Given the description of an element on the screen output the (x, y) to click on. 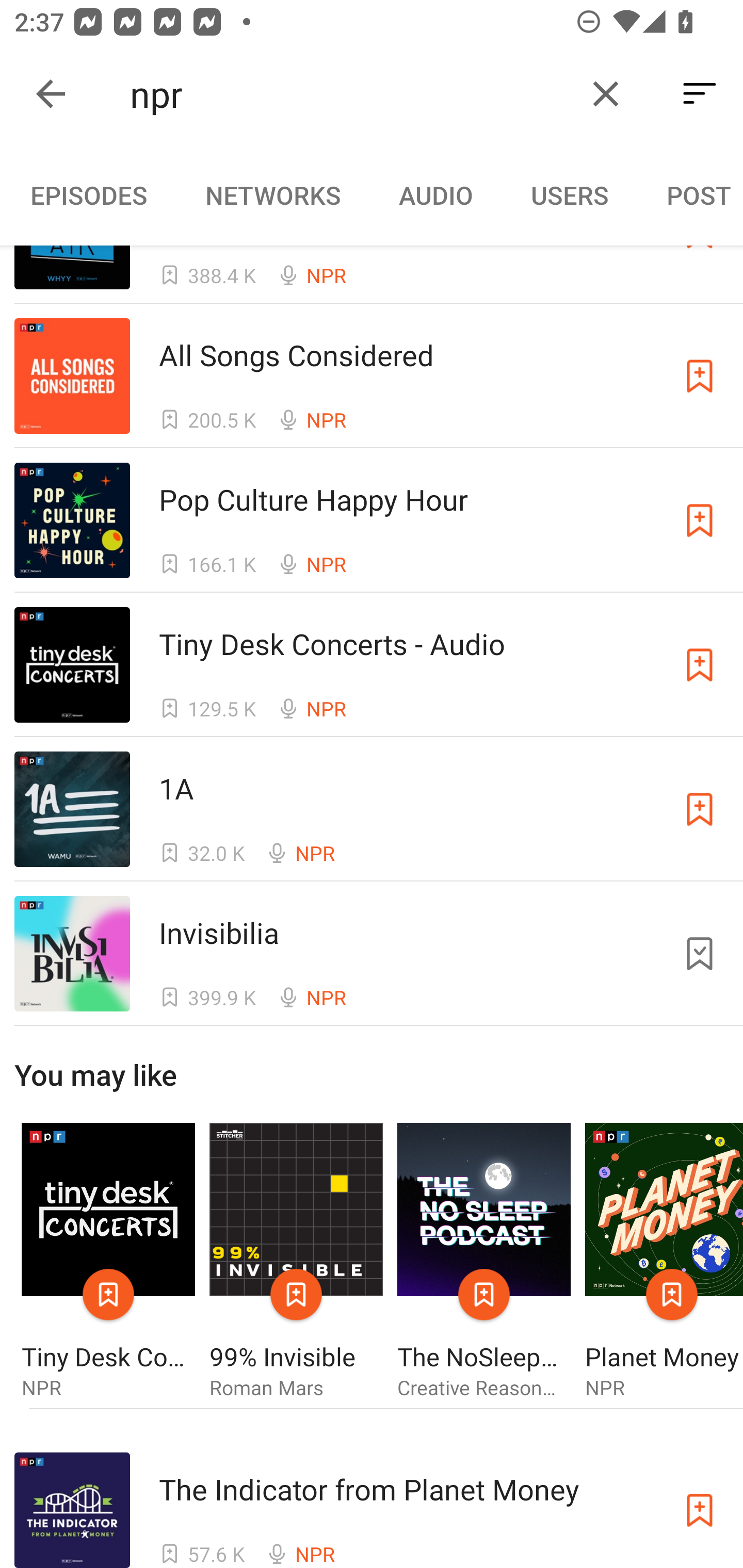
Collapse (50, 93)
Clear query (605, 93)
Sort By (699, 93)
npr (349, 94)
AUDIOBOOKS (0, 195)
EPISODES (88, 195)
NETWORKS (272, 195)
AUDIO (435, 195)
USERS (569, 195)
POST (690, 195)
Subscribe (699, 376)
Subscribe (699, 520)
Subscribe (699, 664)
1A 1A  32.0 K  NPR Subscribe (371, 808)
Subscribe (699, 809)
Unsubscribe (699, 953)
Tiny Desk Concerts - Audio NPR (107, 1261)
99% Invisible Roman Mars (295, 1261)
The NoSleep Podcast Creative Reason Media Inc. (483, 1261)
Planet Money NPR (664, 1261)
Subscribe (699, 1509)
